Given the description of an element on the screen output the (x, y) to click on. 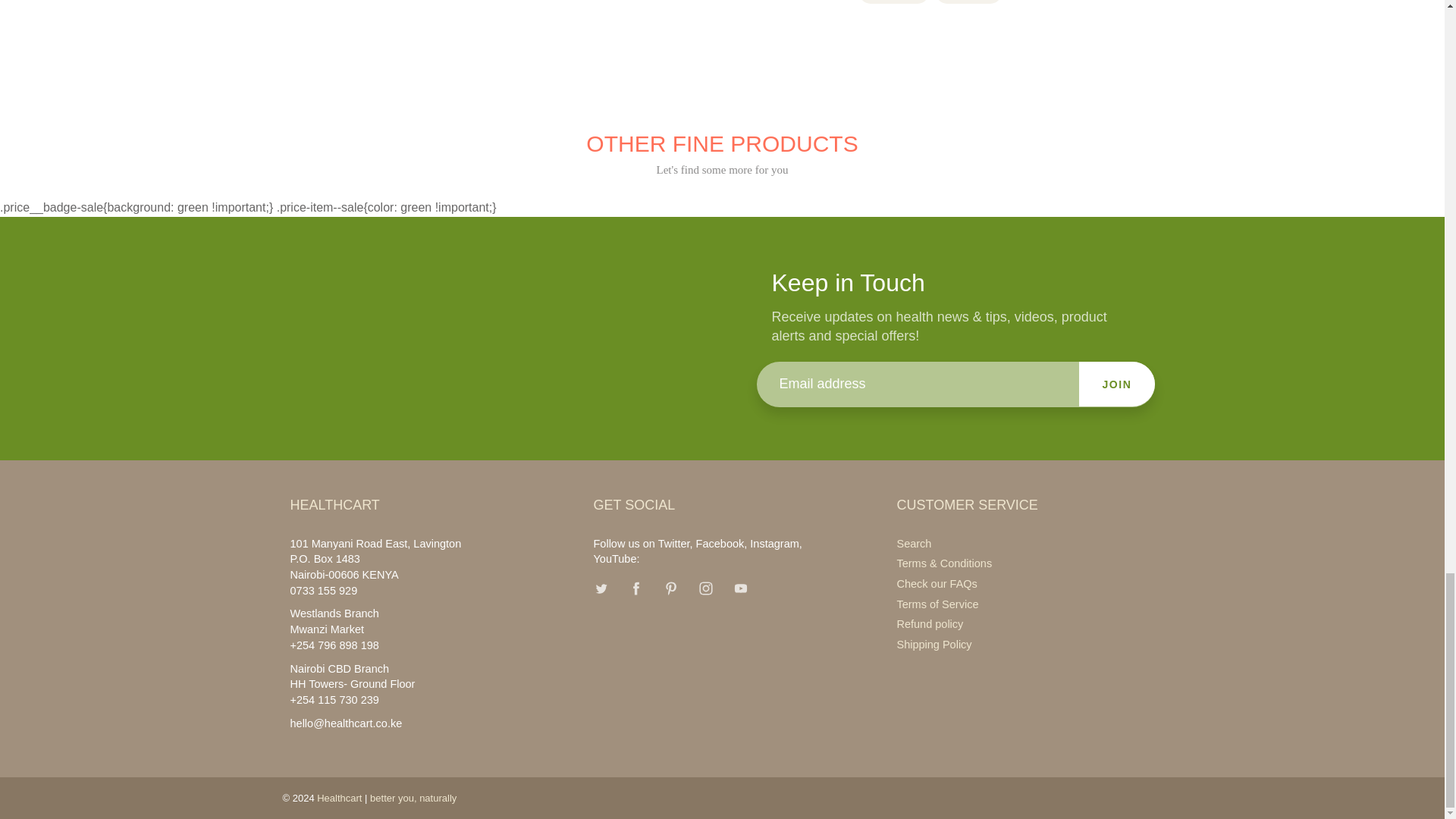
Pinterest (671, 587)
Twitter (601, 587)
Facebook (636, 587)
YouTube (741, 587)
Instagram (706, 587)
